Given the description of an element on the screen output the (x, y) to click on. 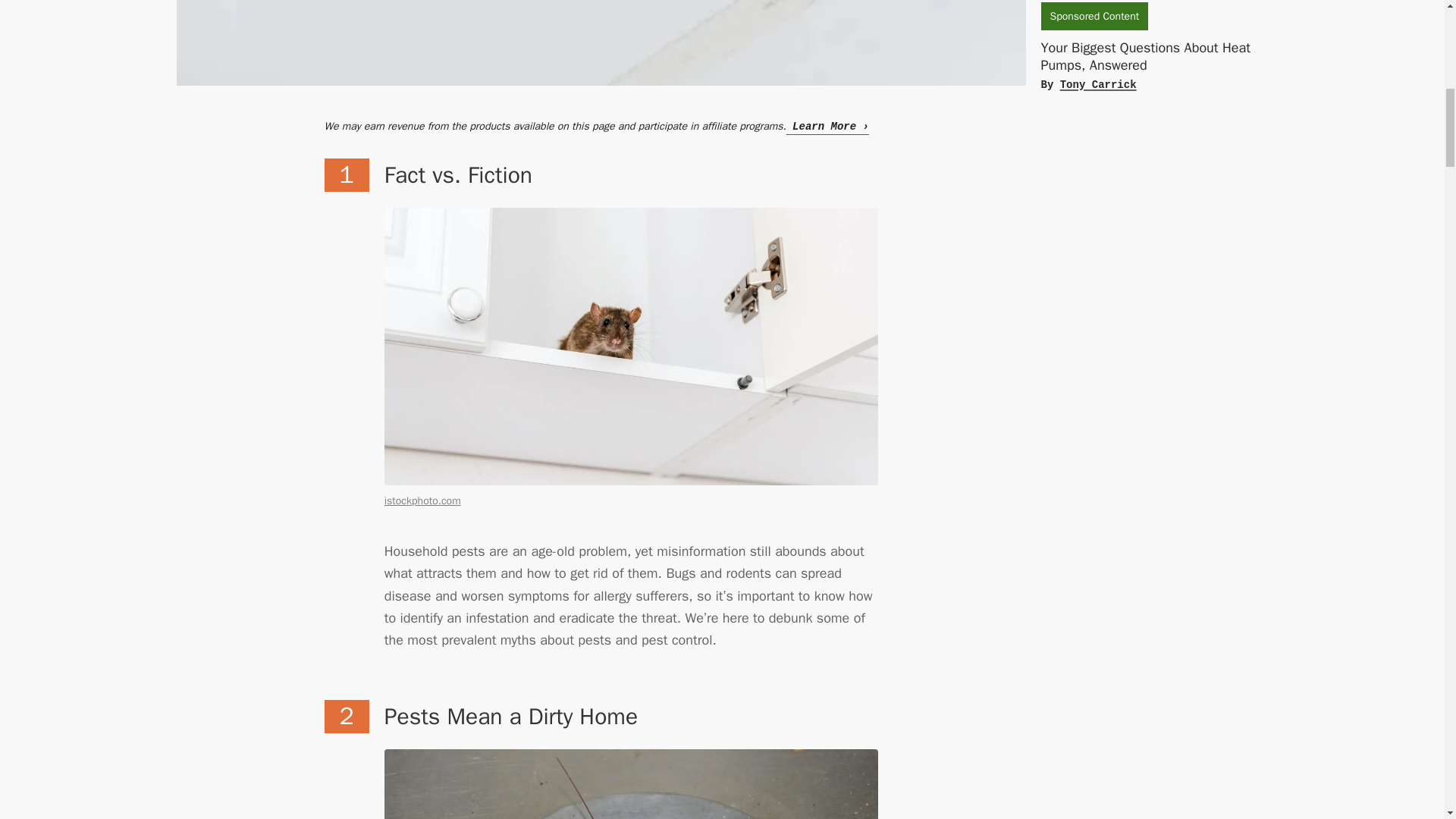
istockphoto.com (422, 500)
